Given the description of an element on the screen output the (x, y) to click on. 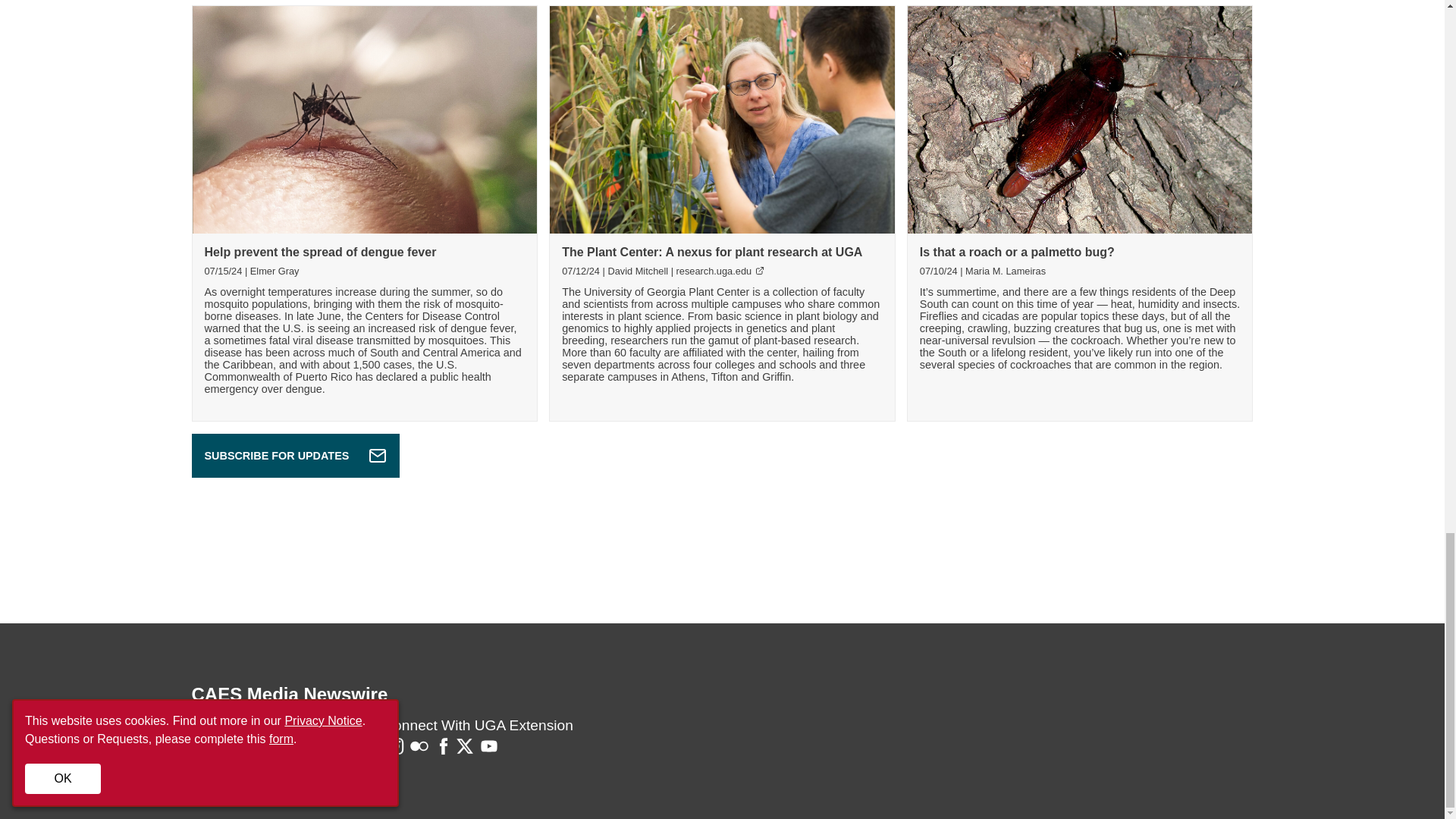
Help prevent the spread of dengue fever (320, 251)
The Plant Center: A nexus for plant research at UGA (711, 251)
SUBSCRIBE FOR UPDATES (294, 455)
Is that a roach or a palmetto bug? (1017, 251)
